Given the description of an element on the screen output the (x, y) to click on. 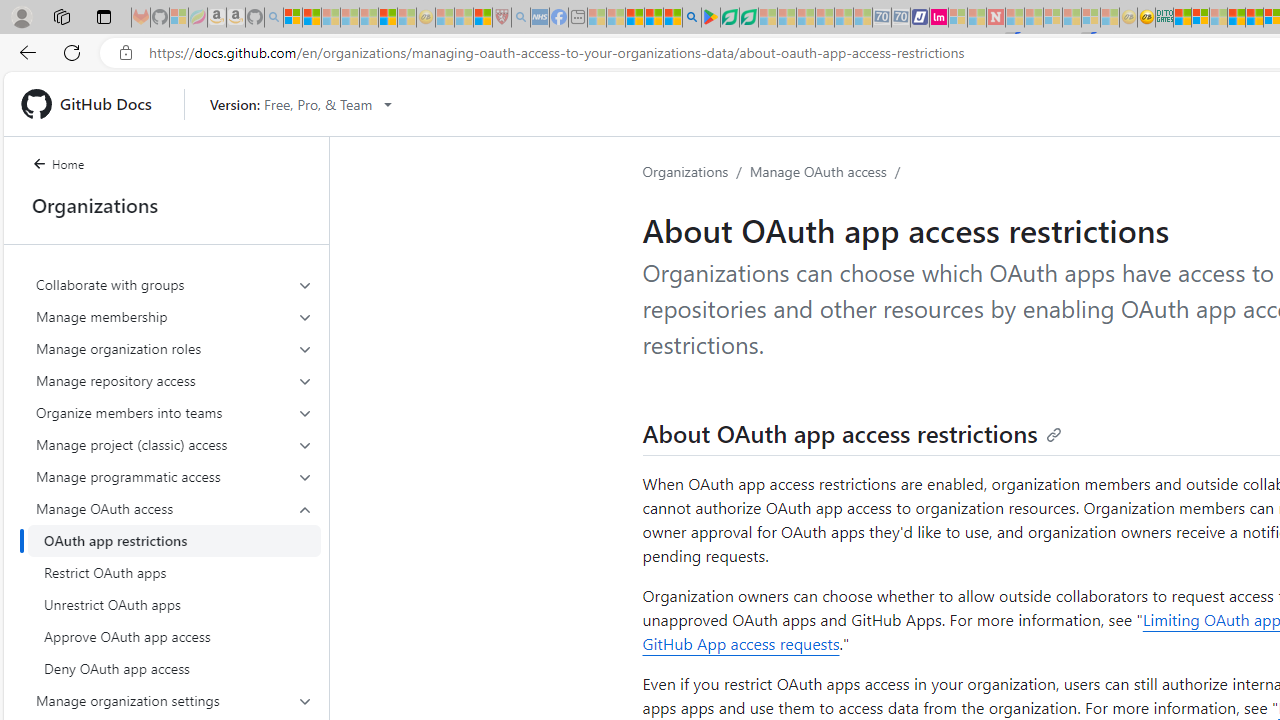
Collaborate with groups (174, 284)
Deny OAuth app access (174, 668)
Manage programmatic access (174, 476)
Manage project (classic) access (174, 444)
Expert Portfolios (1236, 17)
